Given the description of an element on the screen output the (x, y) to click on. 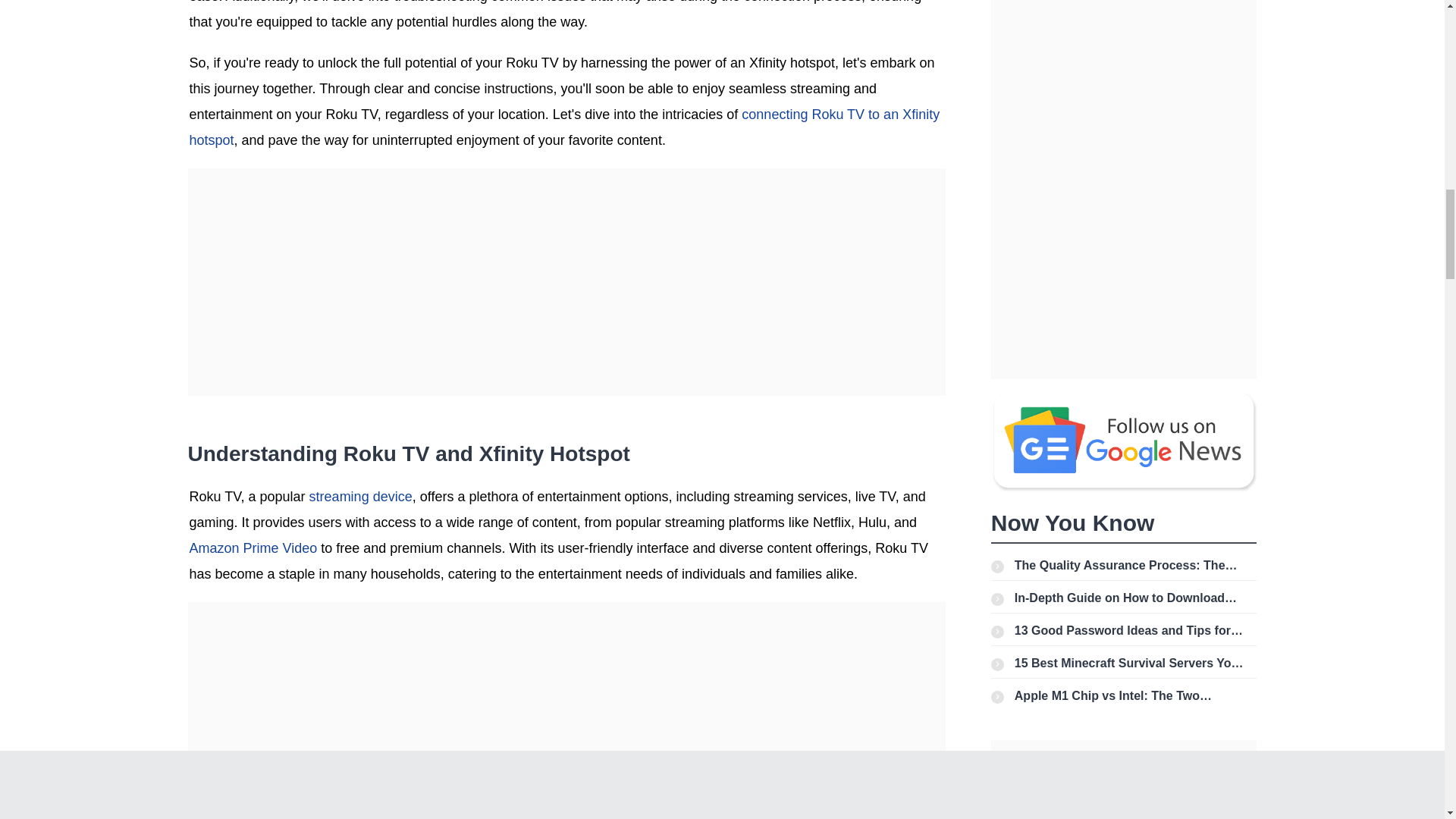
connecting Roku TV to an Xfinity hotspot (564, 127)
streaming device (360, 496)
